Given the description of an element on the screen output the (x, y) to click on. 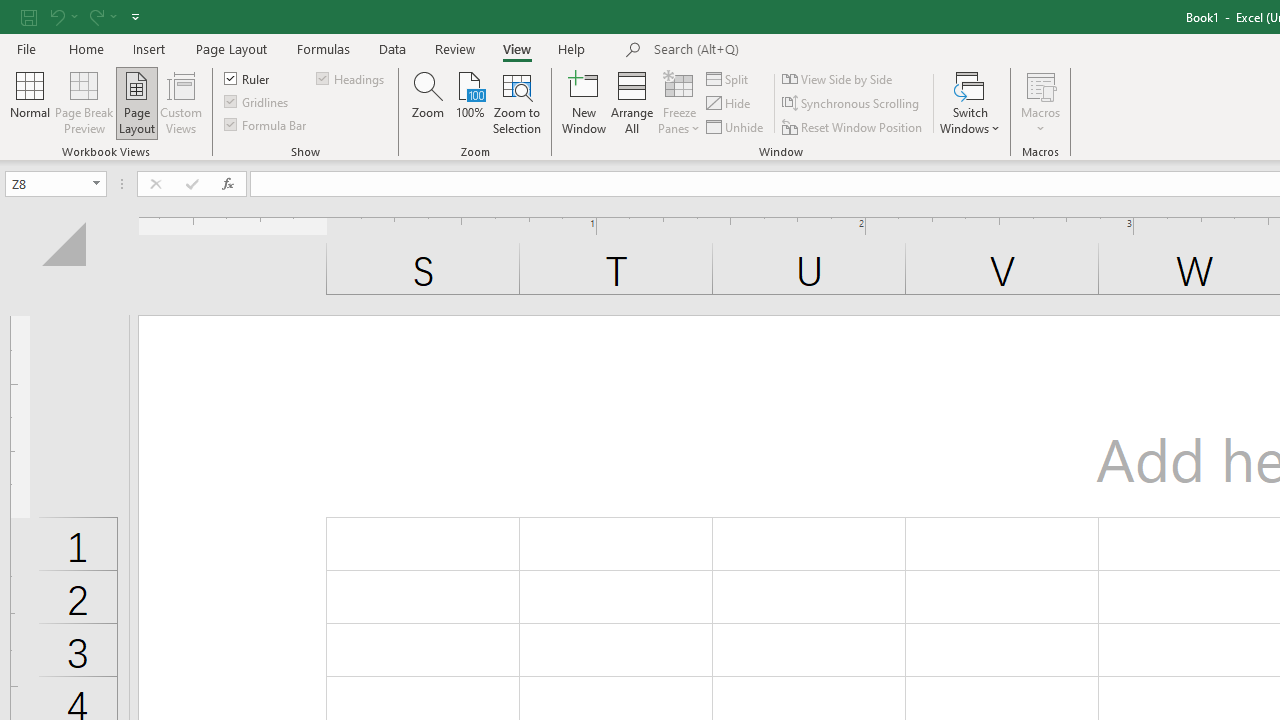
Unhide... (736, 126)
Freeze Panes (678, 102)
